Given the description of an element on the screen output the (x, y) to click on. 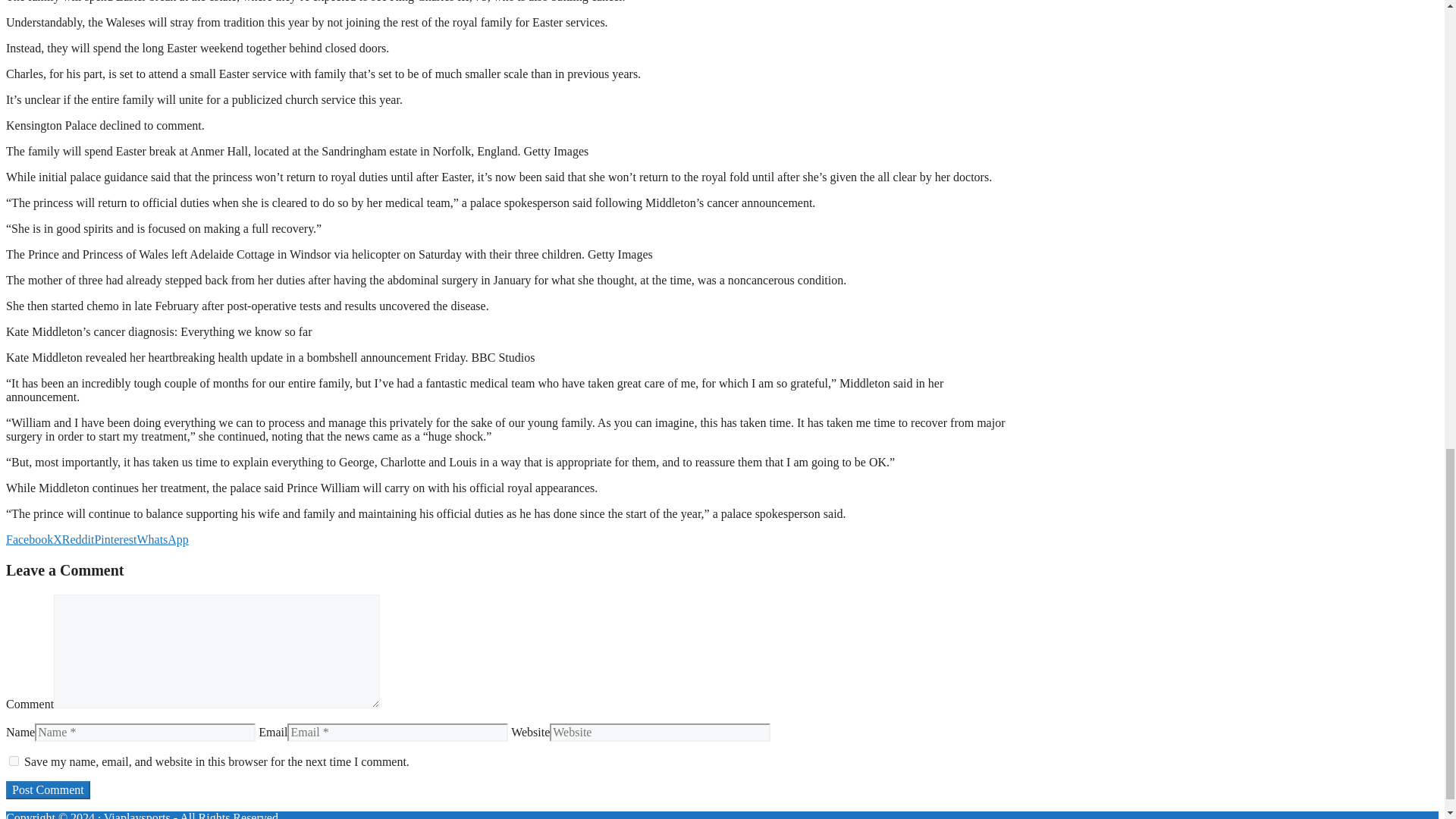
Facebook (28, 539)
yes (13, 760)
Post Comment (47, 790)
Pinterest (115, 539)
Scroll back to top (1406, 512)
WhatsApp (161, 539)
Post Comment (47, 790)
Reddit (78, 539)
